Given the description of an element on the screen output the (x, y) to click on. 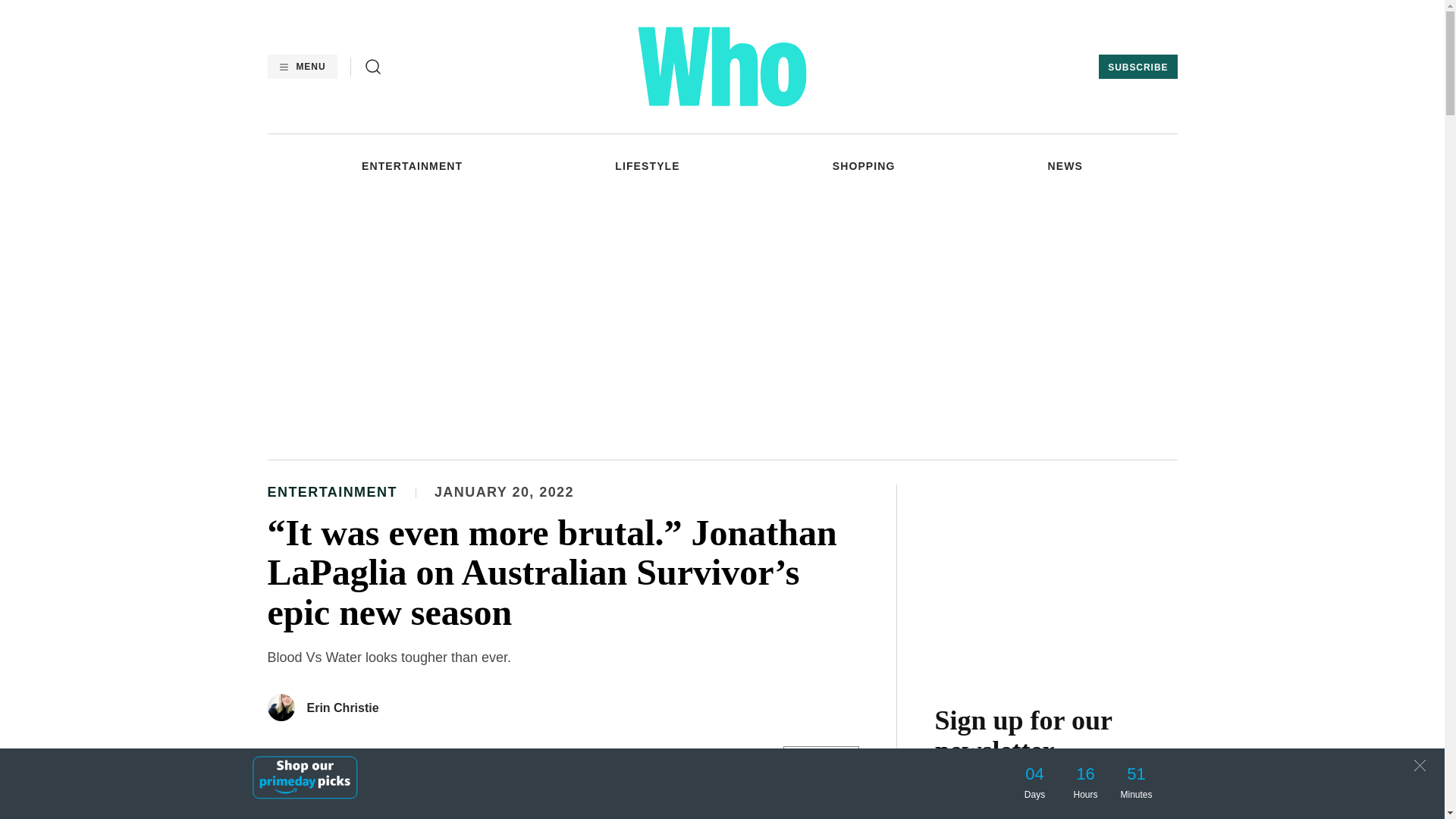
SHOPPING (863, 165)
3rd party ad content (1055, 579)
SUBSCRIBE (1137, 66)
NEWS (1065, 165)
ENTERTAINMENT (412, 165)
LIFESTYLE (646, 165)
MENU (301, 66)
